Given the description of an element on the screen output the (x, y) to click on. 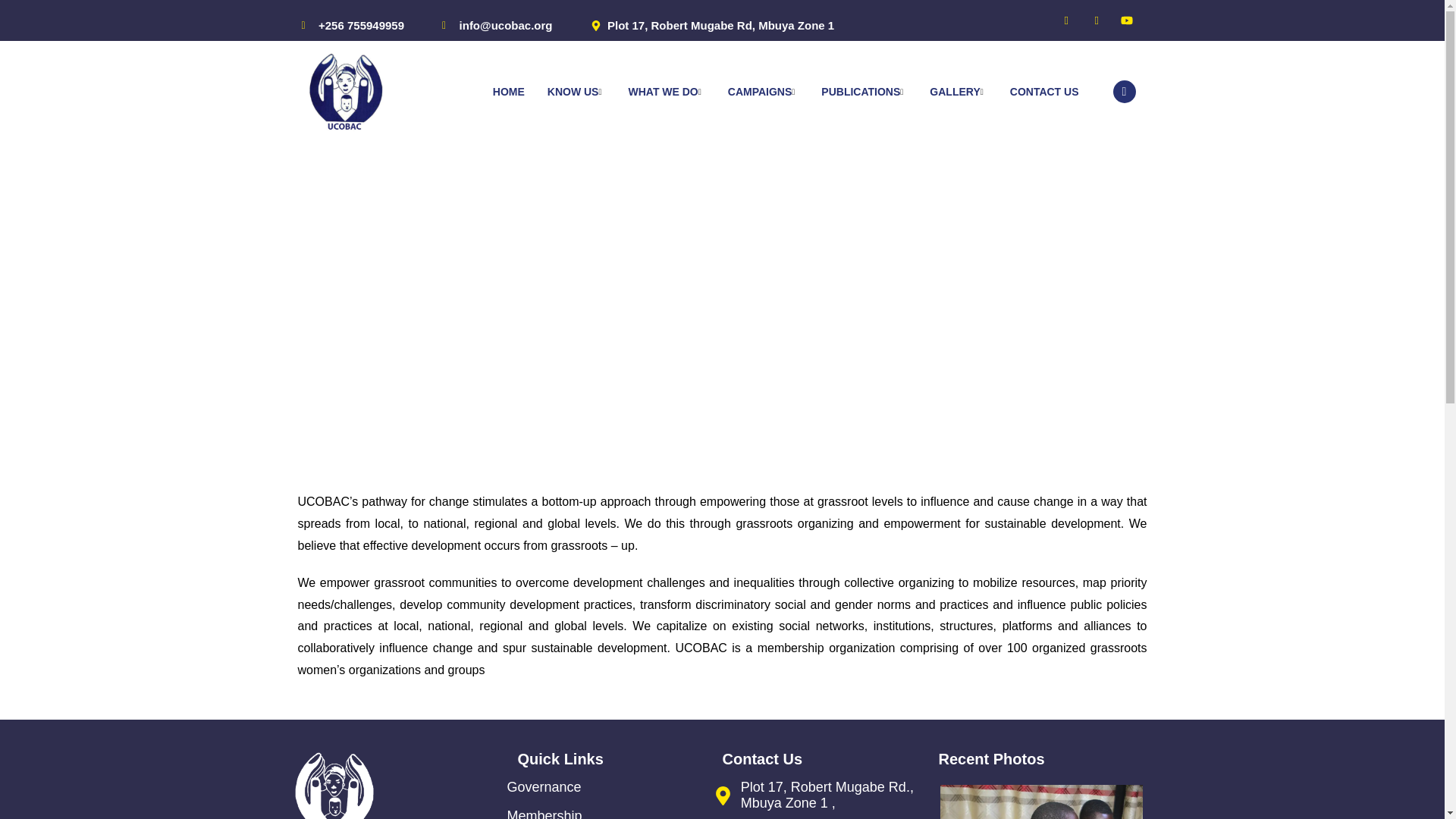
KNOW US (576, 91)
CAMPAIGNS (763, 91)
PUBLICATIONS (863, 91)
HOME (508, 91)
WHAT WE DO (665, 91)
IMG-20230803-WA0004 (1074, 801)
